Given the description of an element on the screen output the (x, y) to click on. 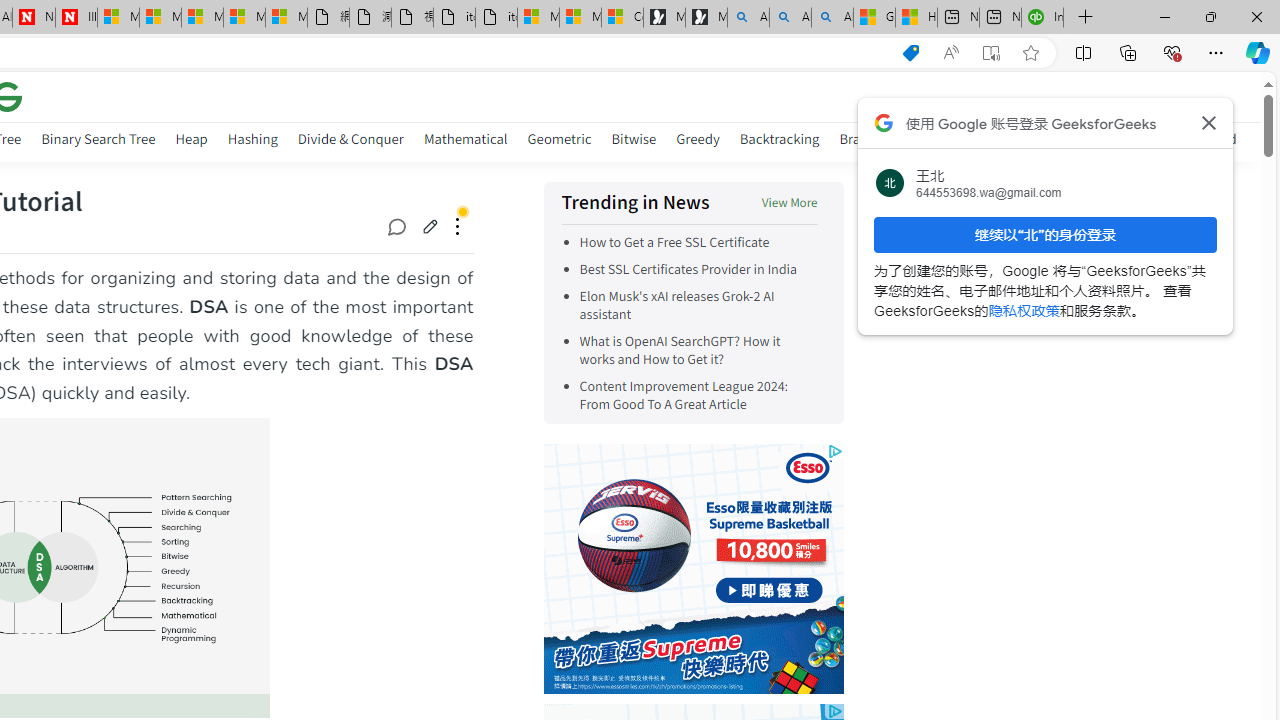
Matrix (991, 142)
Randomized (1197, 138)
itconcepthk.com/projector_solutions.mp4 (496, 17)
Best SSL Certificates Provider in India (697, 269)
Pattern Searching (1085, 142)
Binary Search Tree (98, 142)
Heap (191, 142)
